Given the description of an element on the screen output the (x, y) to click on. 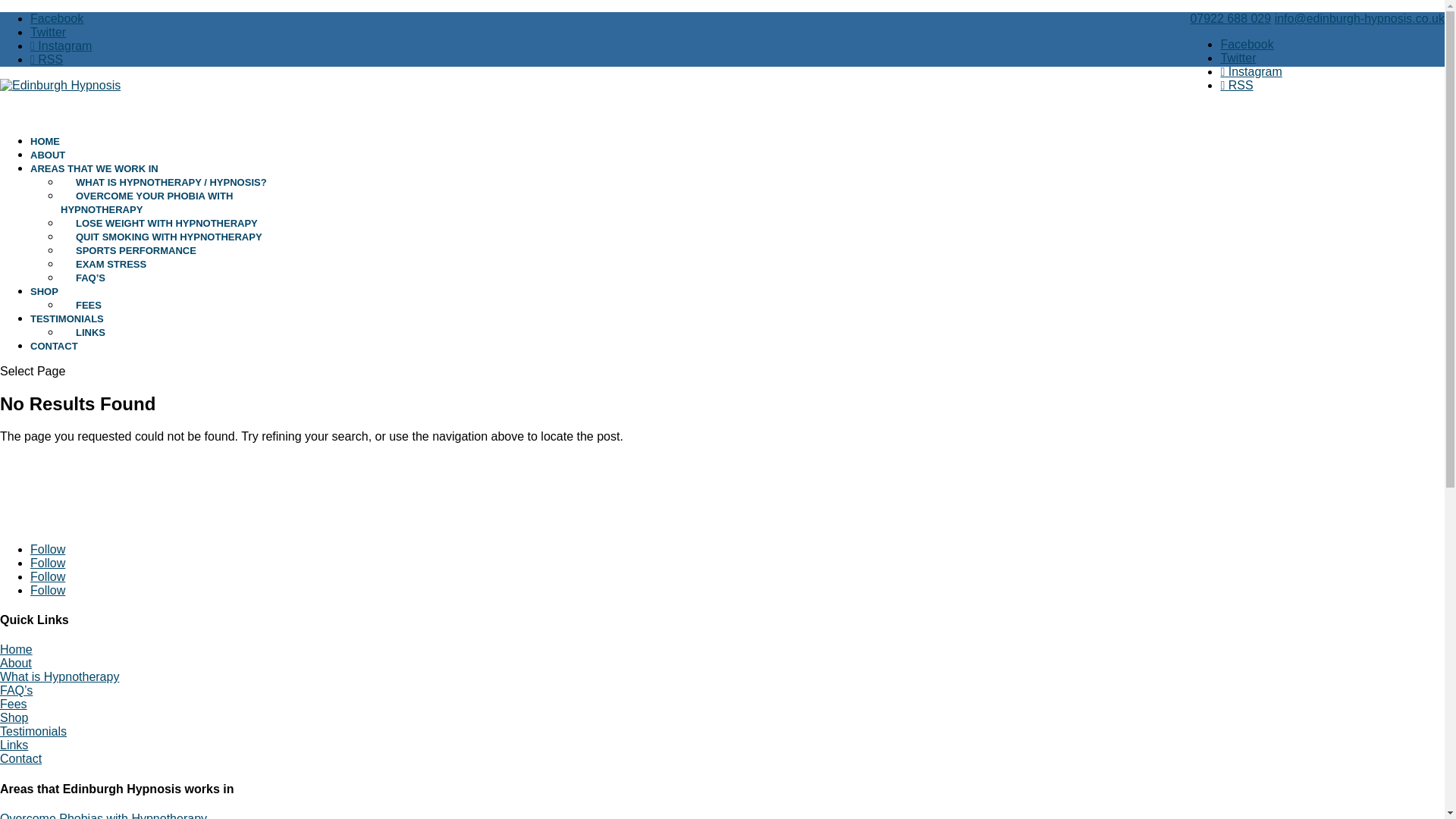
RSS (1236, 84)
CONTACT (54, 360)
Follow (47, 590)
Follow on LinkedIn (47, 576)
Facebook (56, 18)
QUIT SMOKING WITH HYPNOTHERAPY (169, 236)
RSS (46, 59)
Contact (21, 758)
Follow (47, 576)
Follow on Facebook (47, 549)
